Given the description of an element on the screen output the (x, y) to click on. 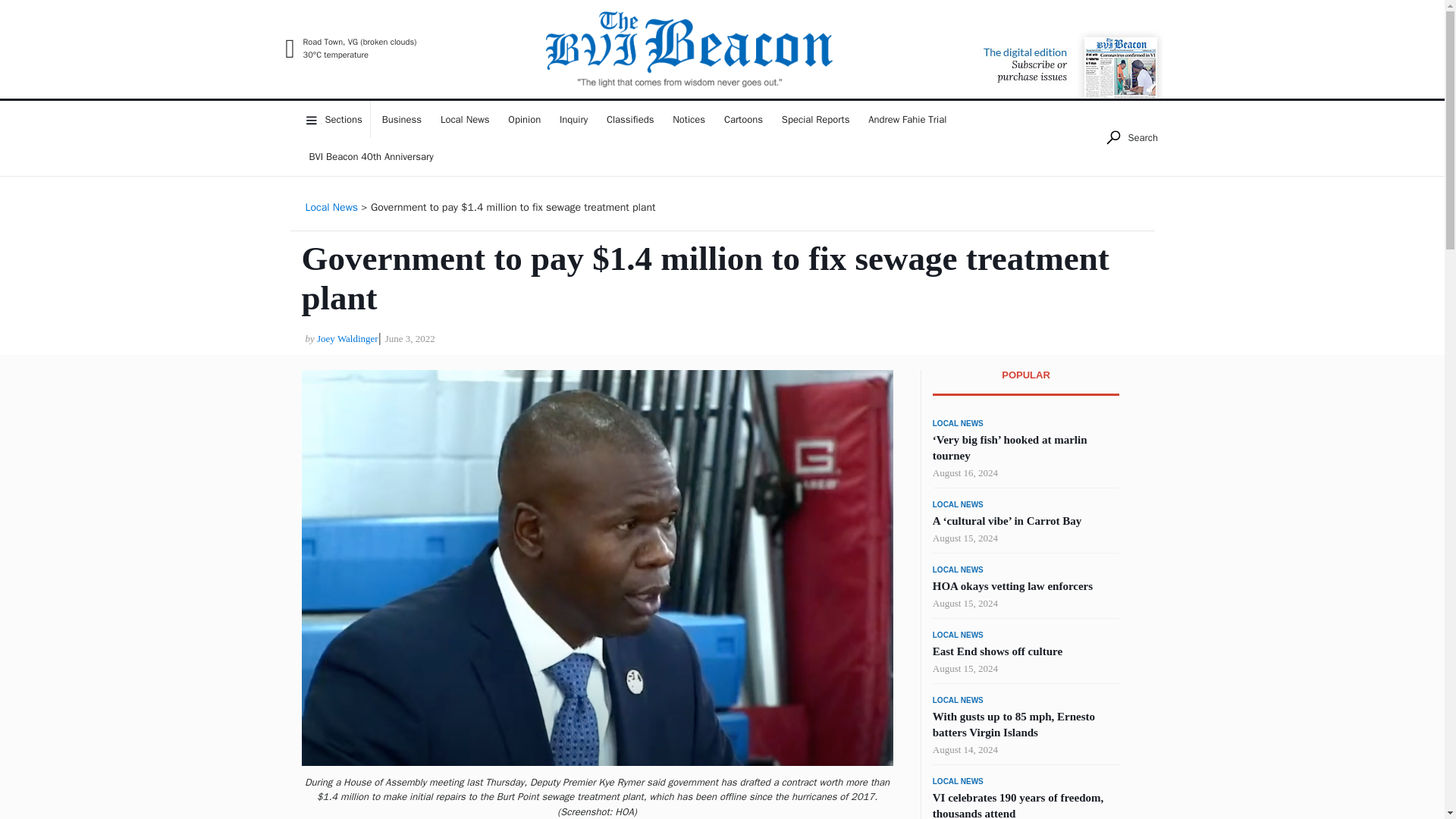
LOCAL NEWS (958, 700)
Joey Waldinger (347, 337)
LOCAL NEWS (958, 504)
Cartoons (743, 119)
Local News (464, 119)
BVI Beacon 40th Anniversary (371, 157)
LOCAL NEWS (958, 634)
Special Reports (815, 119)
Local News (331, 206)
East End shows off culture (997, 651)
